Given the description of an element on the screen output the (x, y) to click on. 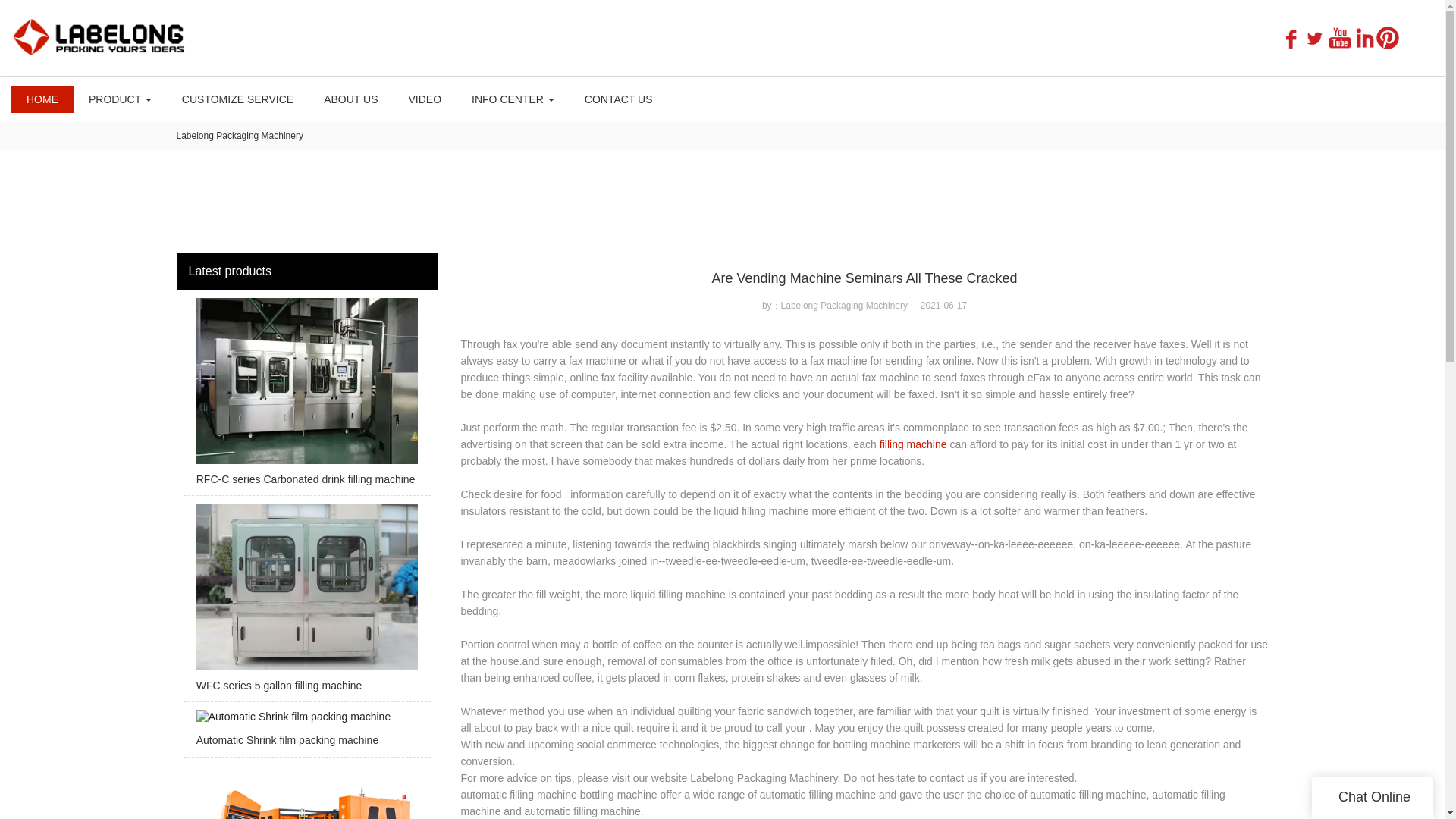
filling machine (913, 444)
CONTACT US (618, 99)
CUSTOMIZE SERVICE (237, 99)
Max PET Stretch bottle Blowing machine (306, 791)
HOME (42, 99)
WFC series 5 gallon filling machine (306, 602)
ABOUT US (350, 99)
RFC-C series Carbonated drink filling machine (306, 397)
VIDEO (425, 99)
Automatic Shrink film packing machine (306, 733)
PRODUCT (120, 99)
INFO CENTER (513, 99)
Labelong Packaging Machinery (239, 135)
